Given the description of an element on the screen output the (x, y) to click on. 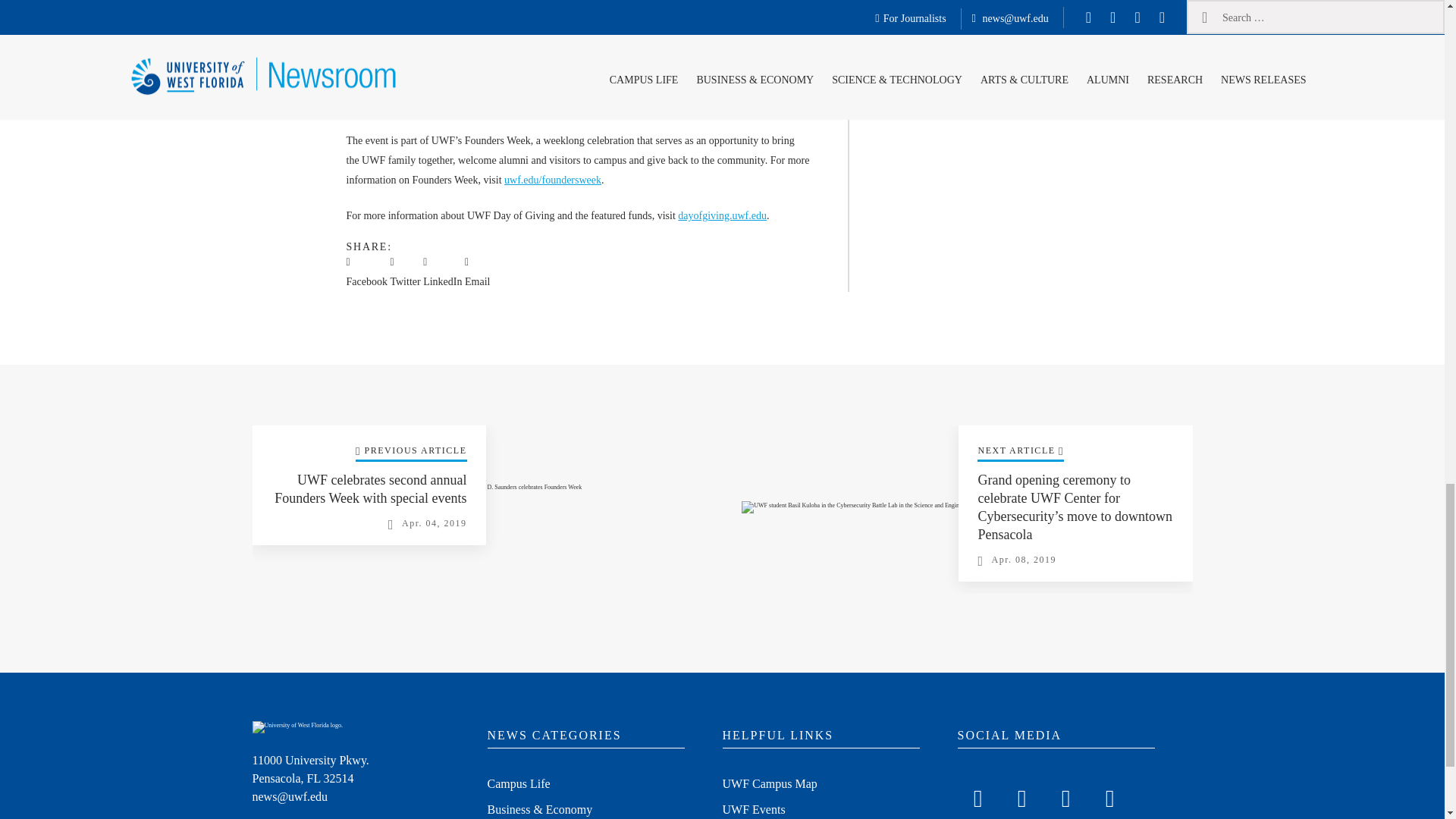
Campus Life (518, 785)
dayofgiving.uwf.edu (722, 215)
Find us on Facebook (976, 794)
Follow us on X (1021, 794)
Follow us on Instagram (1065, 794)
